Given the description of an element on the screen output the (x, y) to click on. 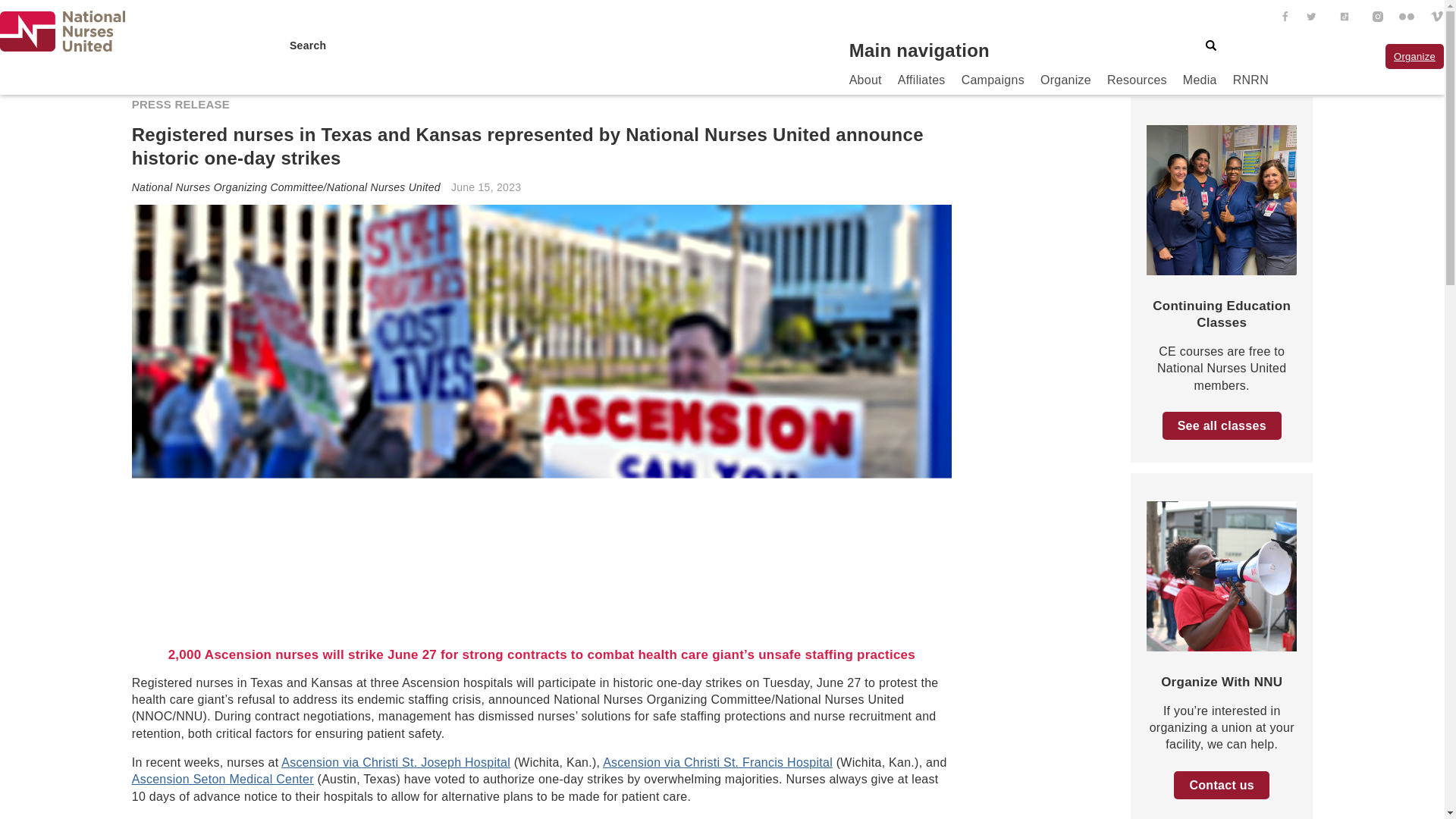
TikTok  (1342, 18)
NNU Tiktok (1342, 18)
NNU Twitter (1309, 18)
NNU Flickr (1404, 18)
Affiliates (929, 83)
Campaigns (1000, 83)
facebook  (1281, 18)
flickr  (1404, 18)
twitter  (1309, 18)
Instagram  (1374, 18)
About (873, 83)
NNU Facebook (1281, 18)
